Given the description of an element on the screen output the (x, y) to click on. 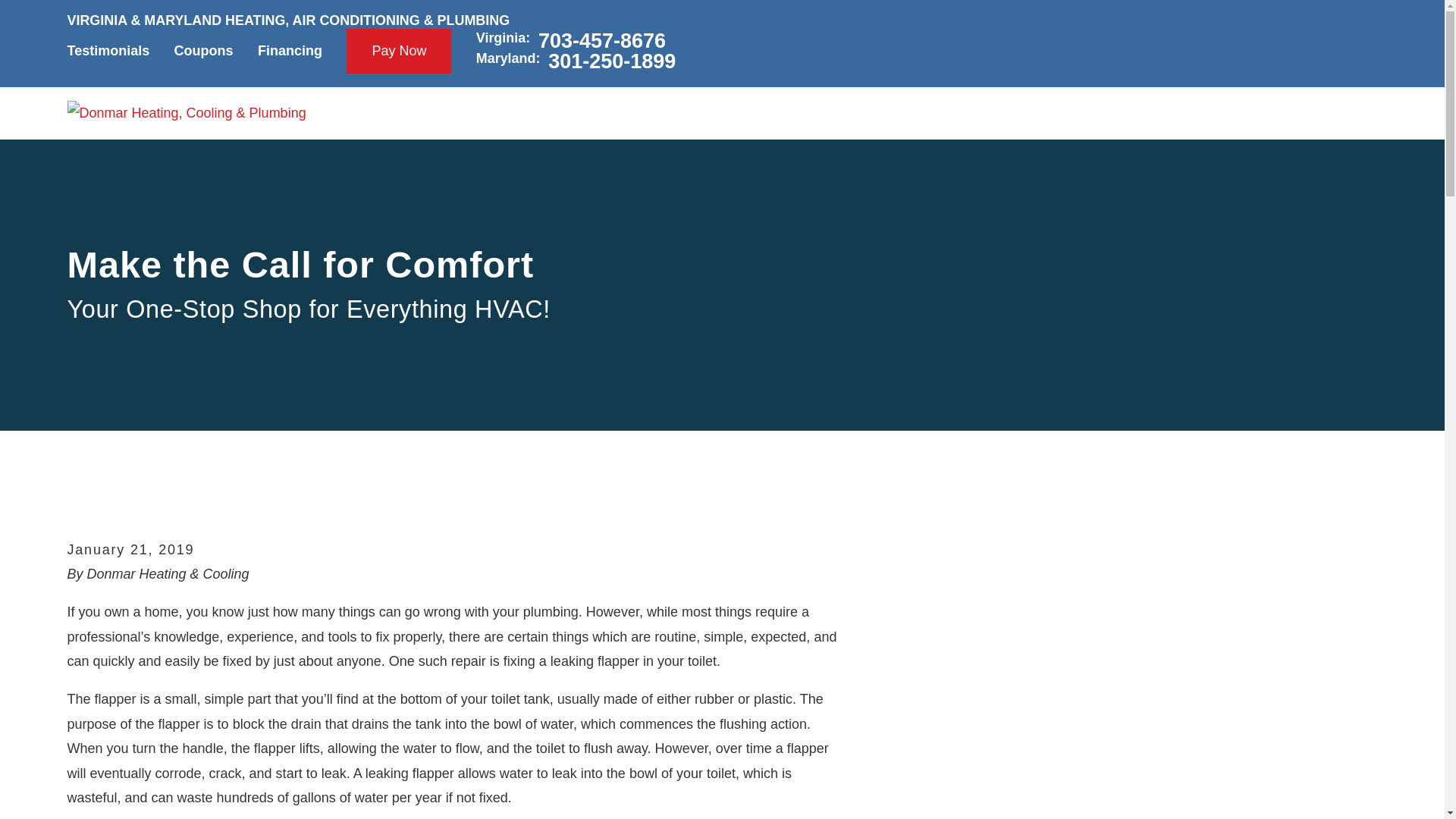
Coupons (203, 50)
Financing (289, 50)
Pay Now (398, 51)
Pay Now (398, 51)
Home (185, 112)
301-250-1899 (611, 61)
703-457-8676 (601, 40)
Testimonials (107, 50)
